Given the description of an element on the screen output the (x, y) to click on. 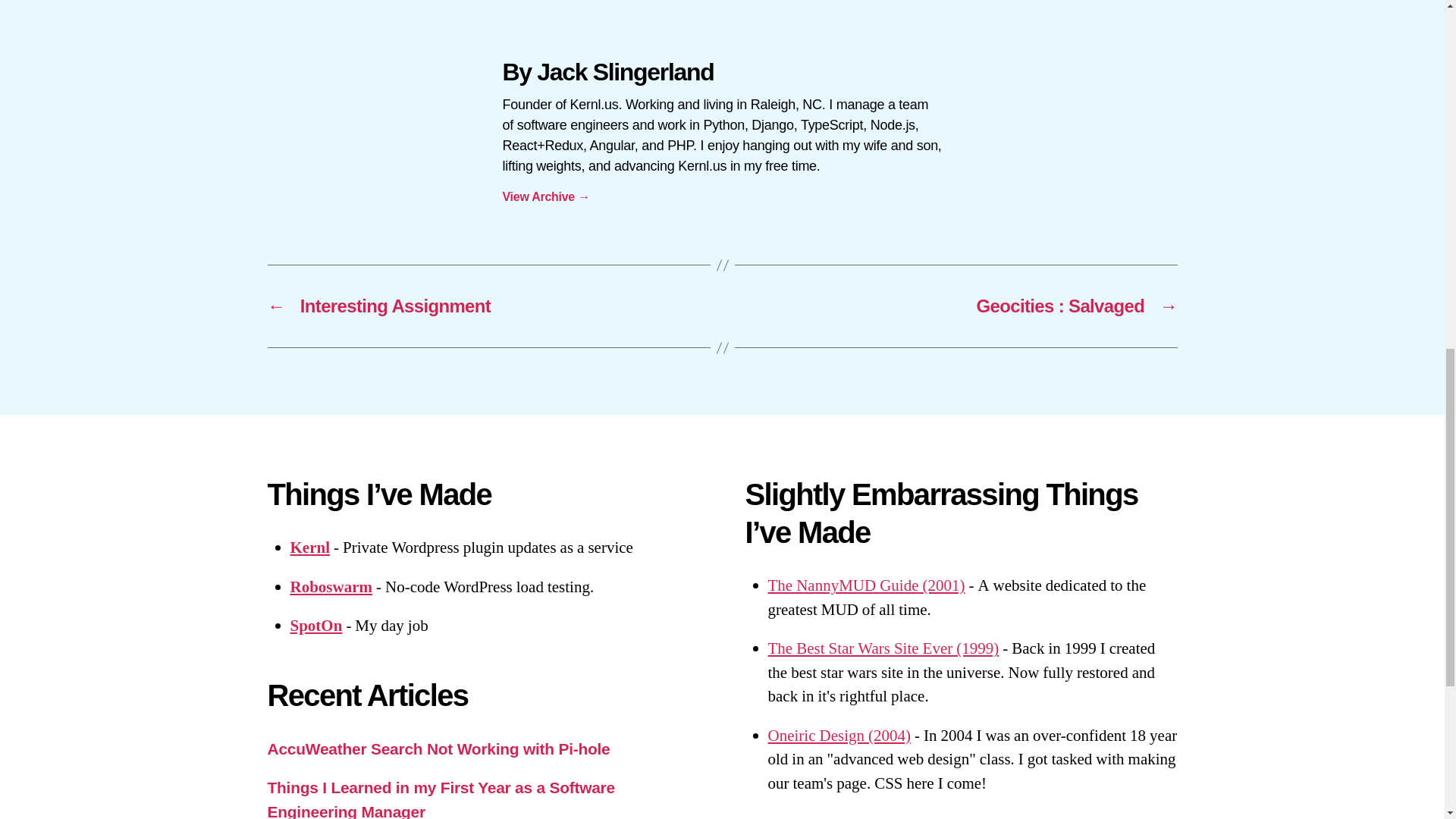
Kernl (309, 547)
SpotOn (315, 625)
Roboswarm (330, 587)
AccuWeather Search Not Working with Pi-hole (438, 748)
